Given the description of an element on the screen output the (x, y) to click on. 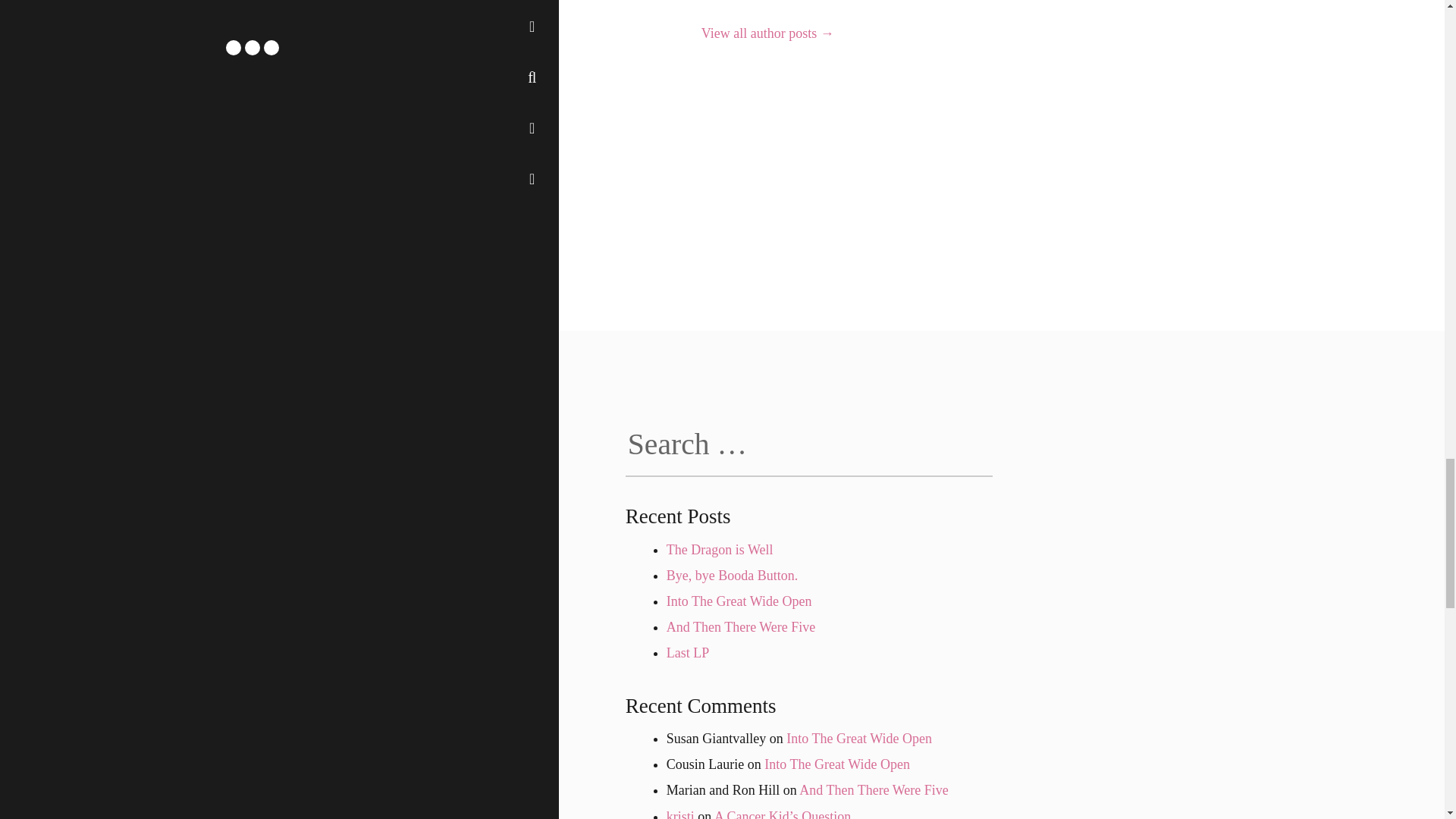
Into The Great Wide Open (858, 738)
Bye, bye Booda Button. (731, 575)
kristi (680, 813)
And Then There Were Five (874, 789)
The Dragon is Well (719, 549)
Into The Great Wide Open (739, 601)
Into The Great Wide Open (837, 764)
View all author posts (767, 32)
Last LP (688, 652)
And Then There Were Five (740, 626)
